Given the description of an element on the screen output the (x, y) to click on. 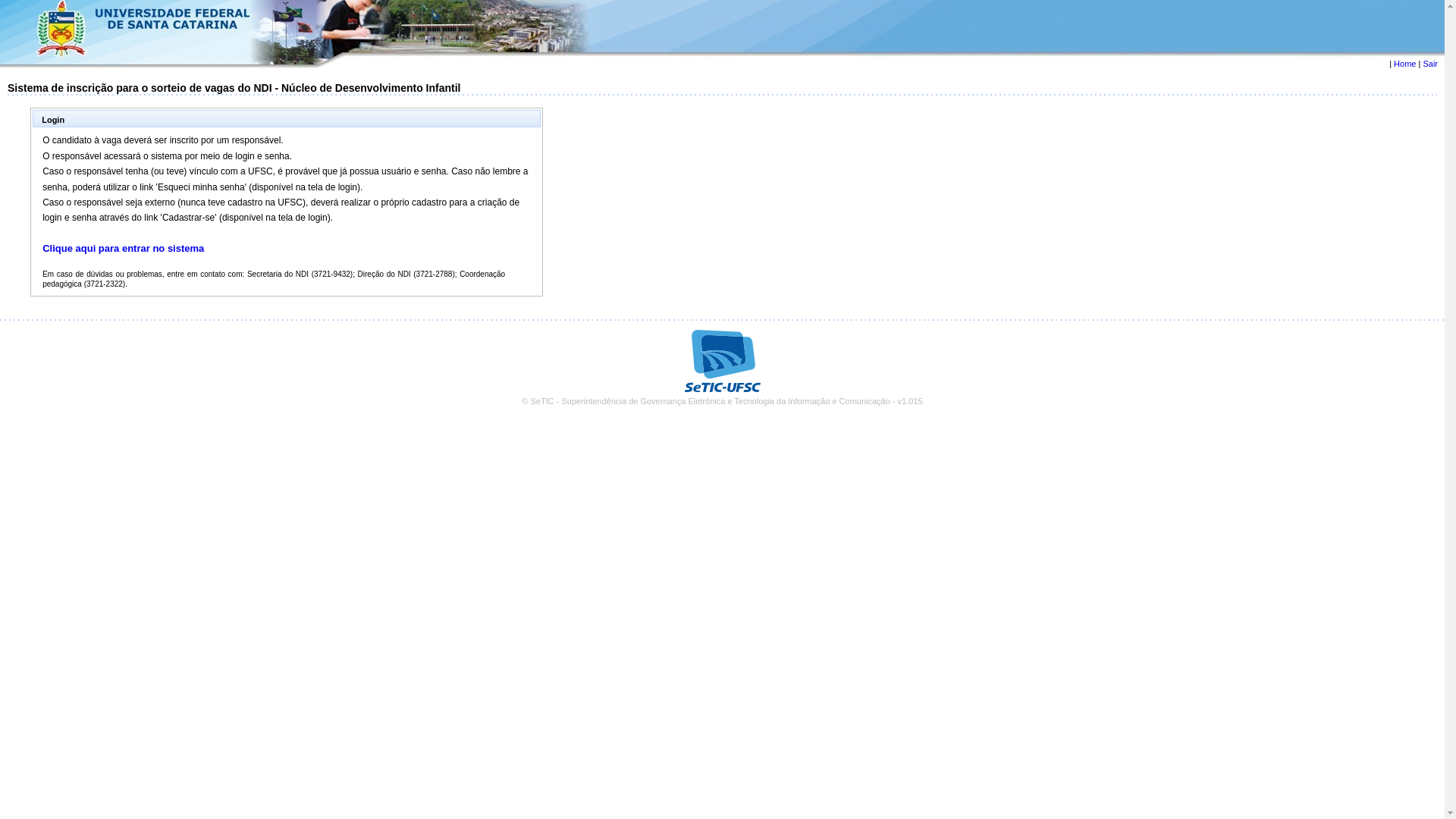
Home Element type: text (1404, 63)
Sair Element type: text (1429, 63)
Clique aqui para entrar no sistema Element type: text (122, 248)
